Given the description of an element on the screen output the (x, y) to click on. 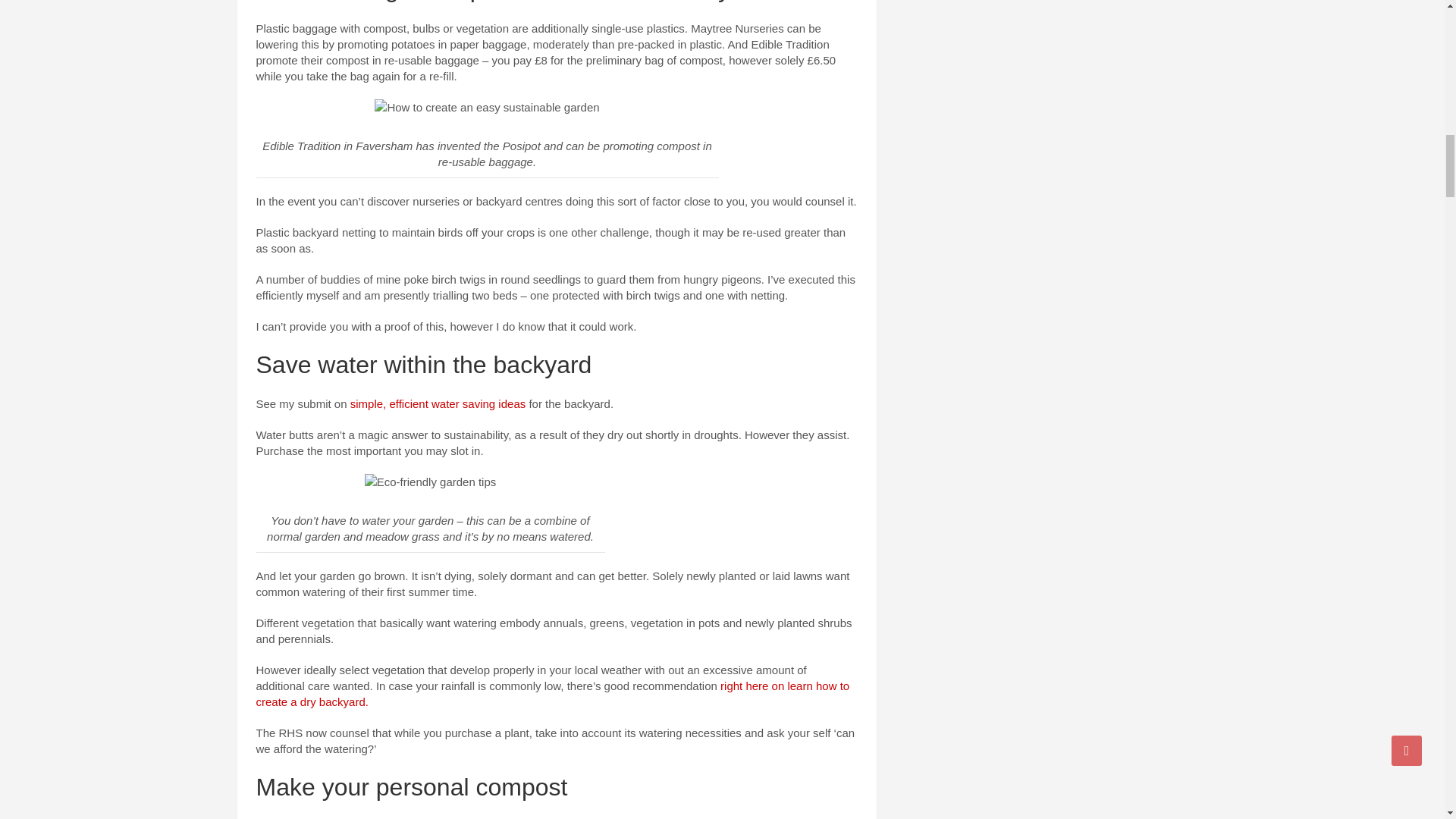
Top sustainable garden tip - don't water your lawn (430, 481)
simple, efficient water saving ideas (437, 403)
right here on learn how to create a dry backyard. (553, 693)
